Given the description of an element on the screen output the (x, y) to click on. 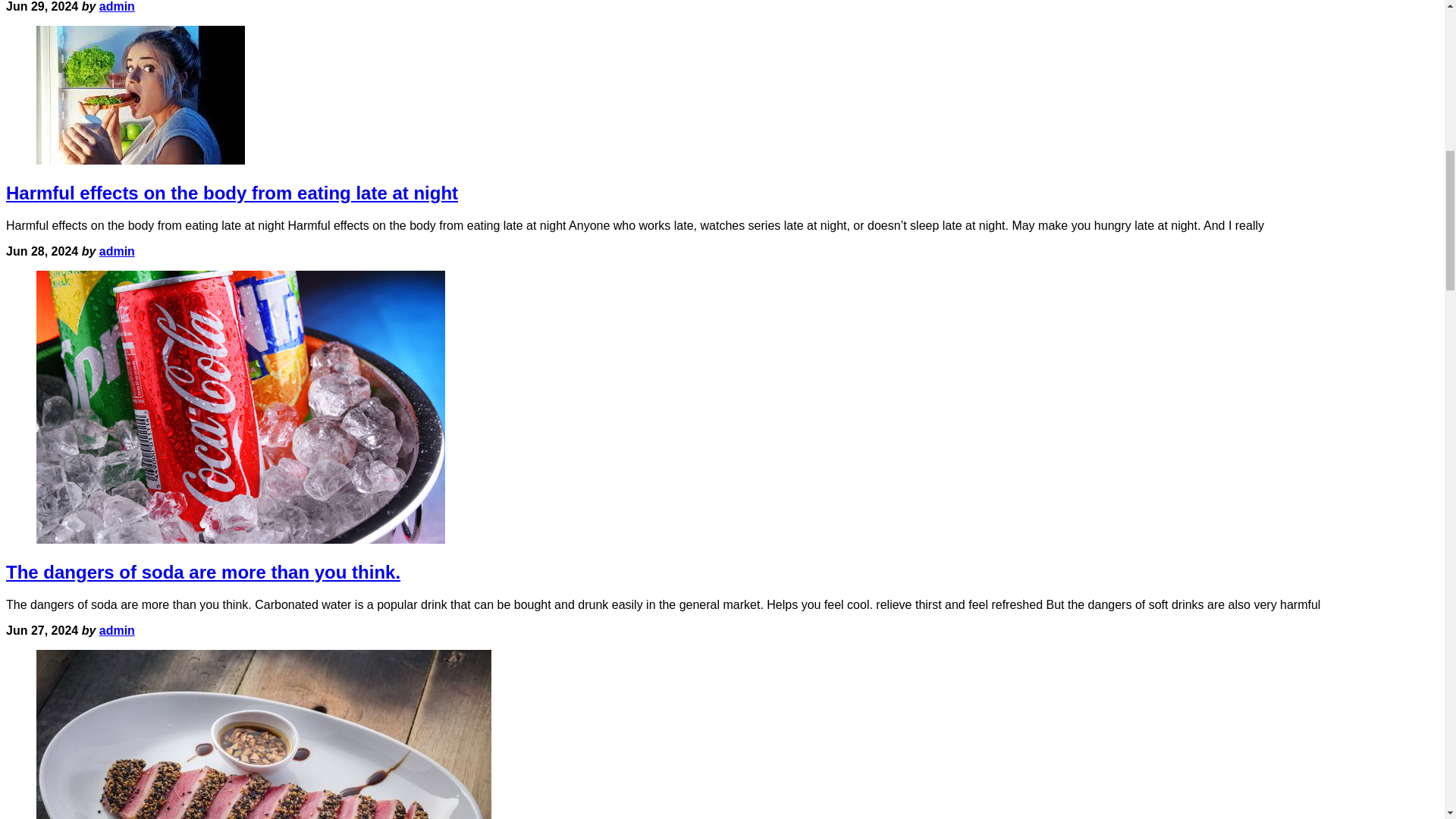
Harmful effects on the body from eating late at night (231, 192)
Posts by admin (117, 6)
Posts by admin (117, 630)
Posts by admin (117, 250)
admin (117, 6)
The dangers of soda are more than you think. (202, 571)
admin (117, 630)
admin (117, 250)
